Given the description of an element on the screen output the (x, y) to click on. 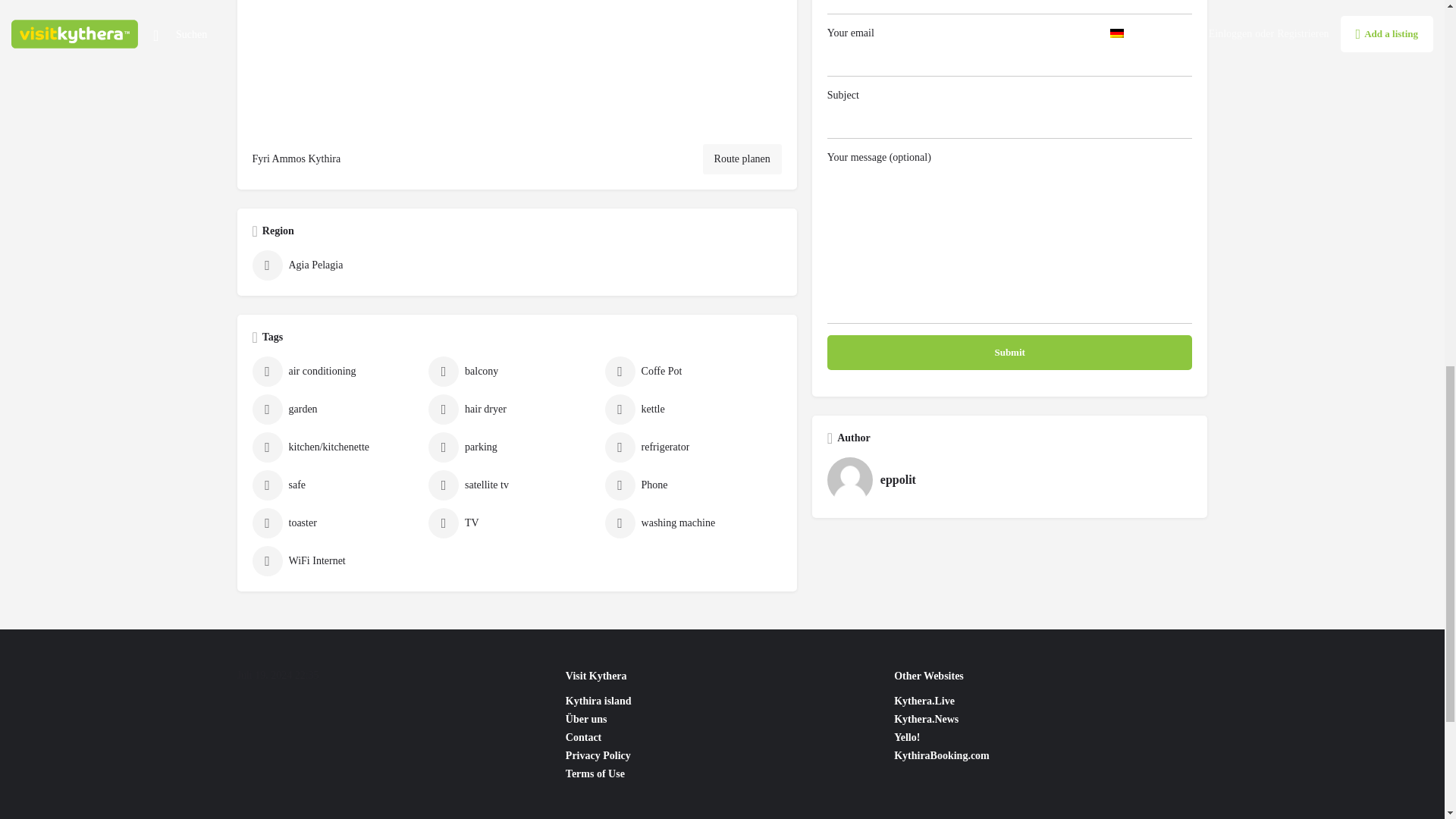
Submit (1009, 352)
